Given the description of an element on the screen output the (x, y) to click on. 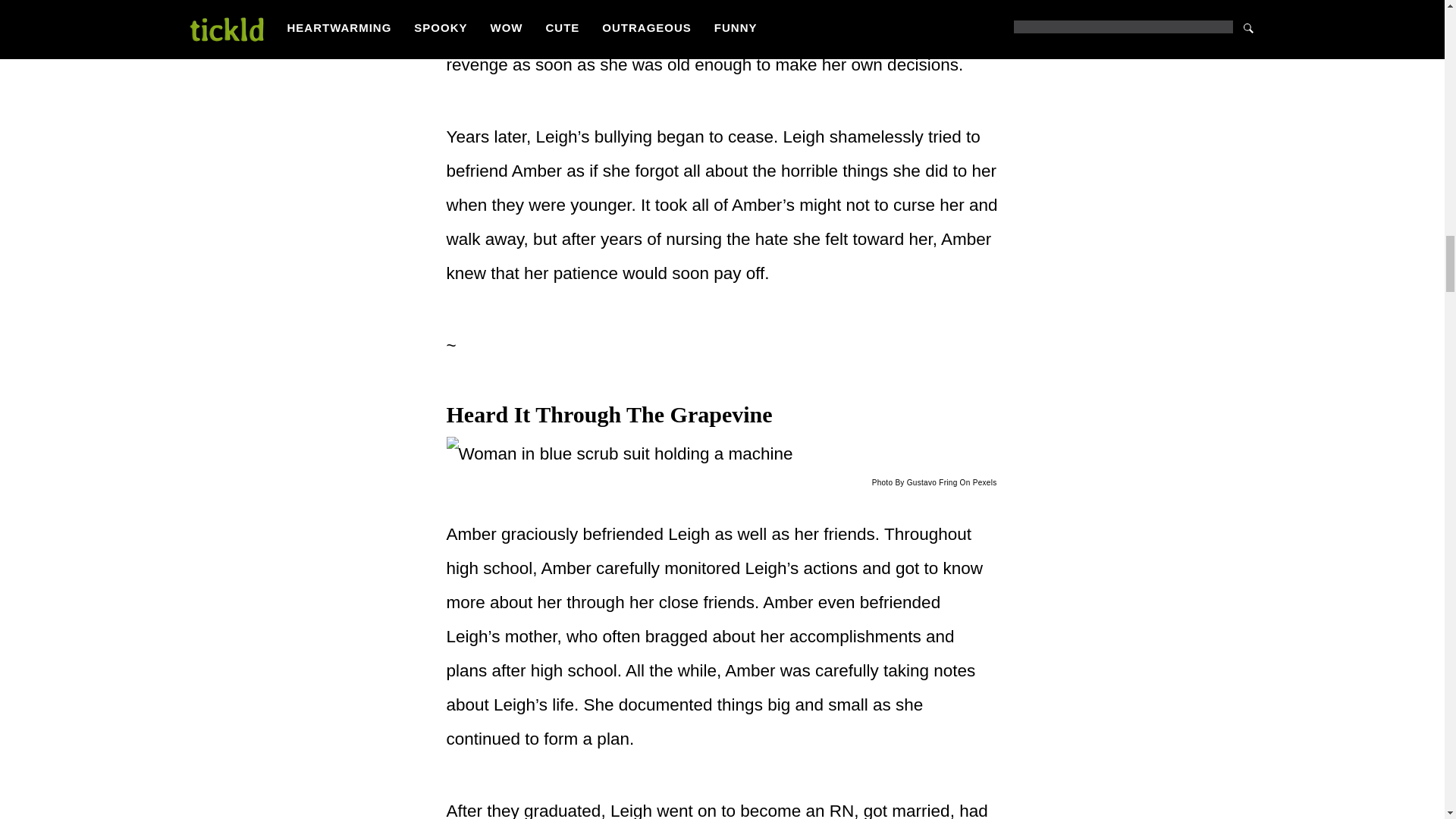
Pexels (984, 482)
